Given the description of an element on the screen output the (x, y) to click on. 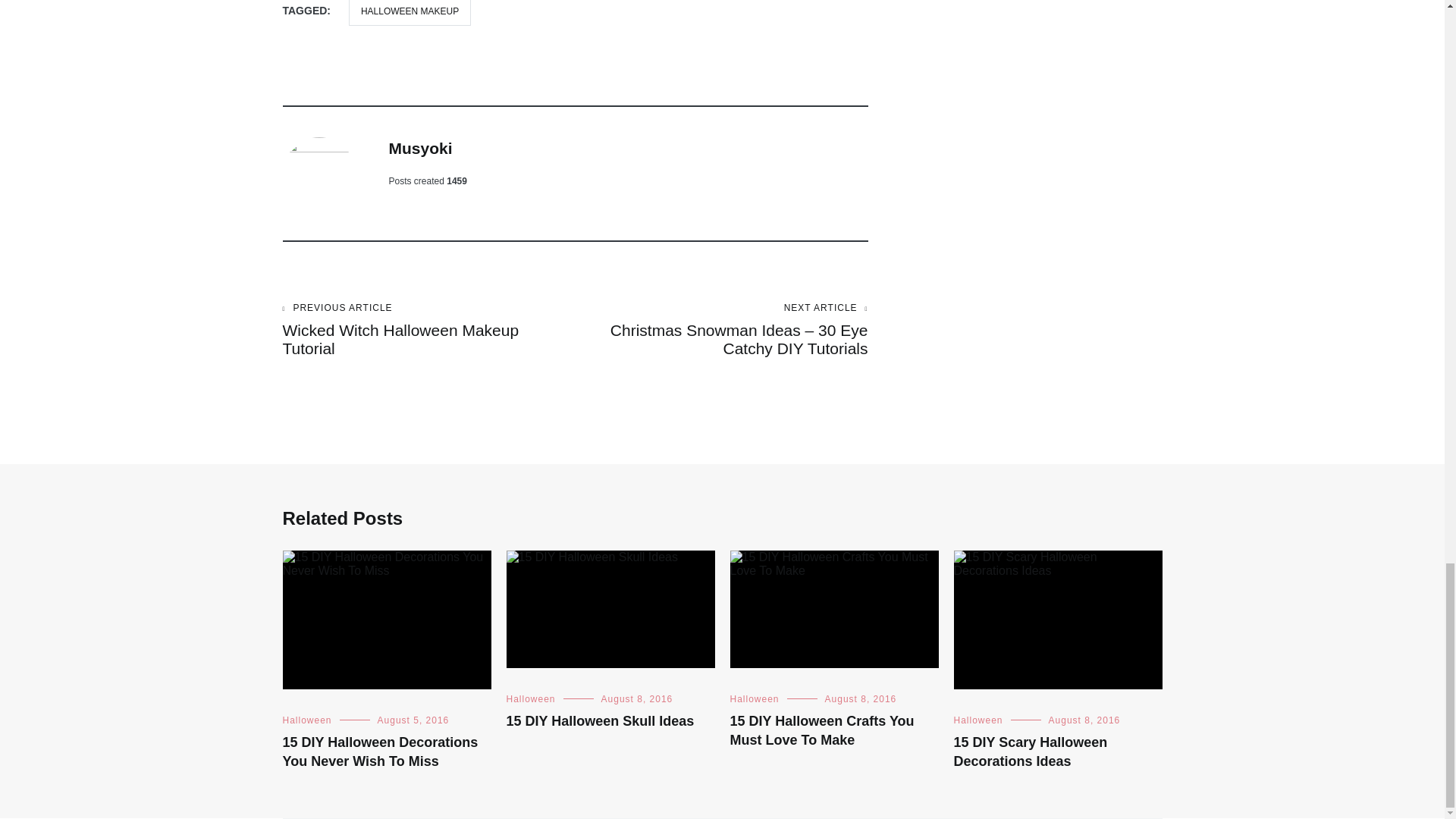
Posts by Musyoki (419, 148)
